Given the description of an element on the screen output the (x, y) to click on. 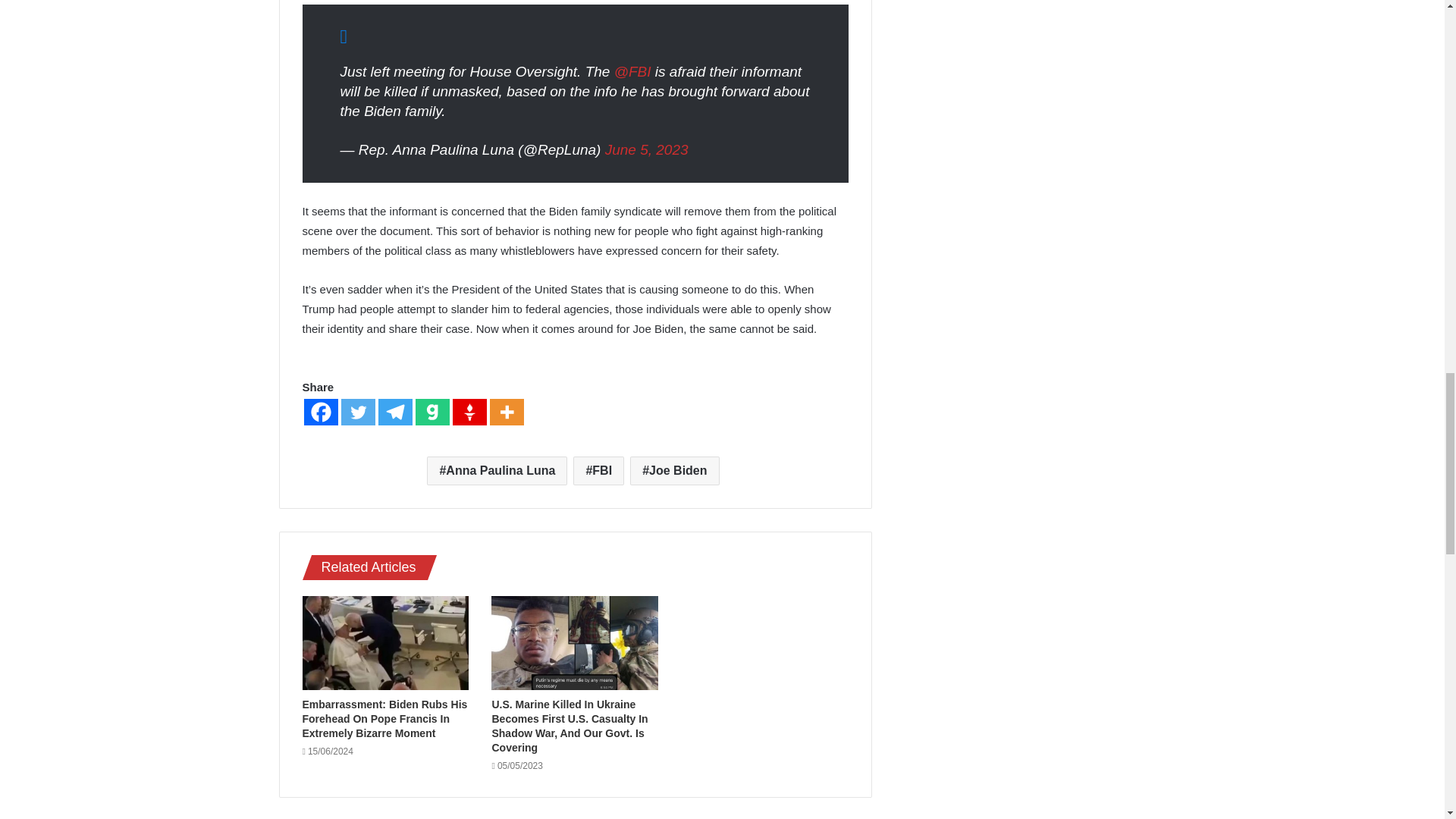
FBI (598, 470)
Anna Paulina Luna (496, 470)
Facebook (319, 411)
June 5, 2023 (646, 149)
